Given the description of an element on the screen output the (x, y) to click on. 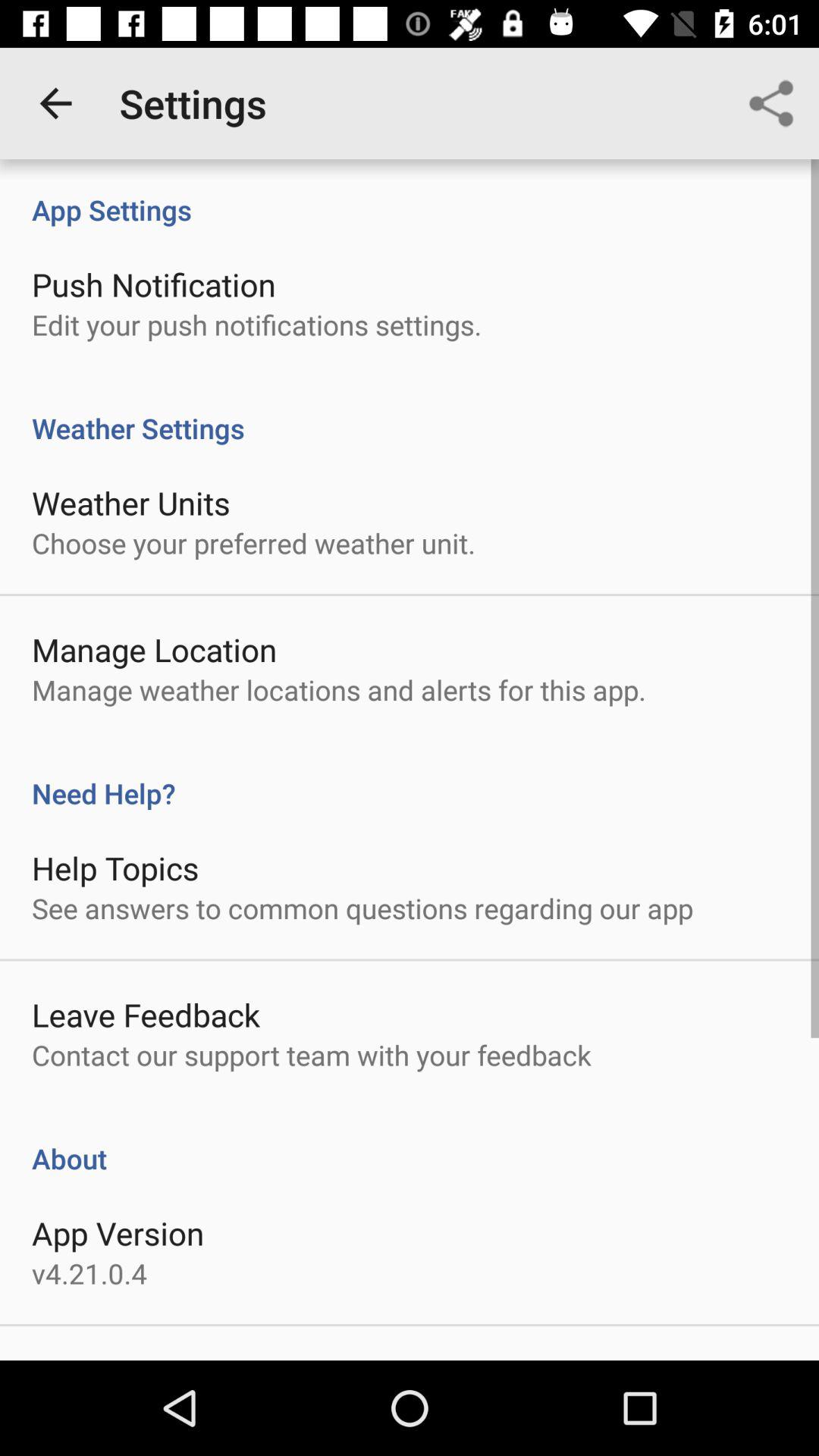
turn on the development team (168, 1359)
